Given the description of an element on the screen output the (x, y) to click on. 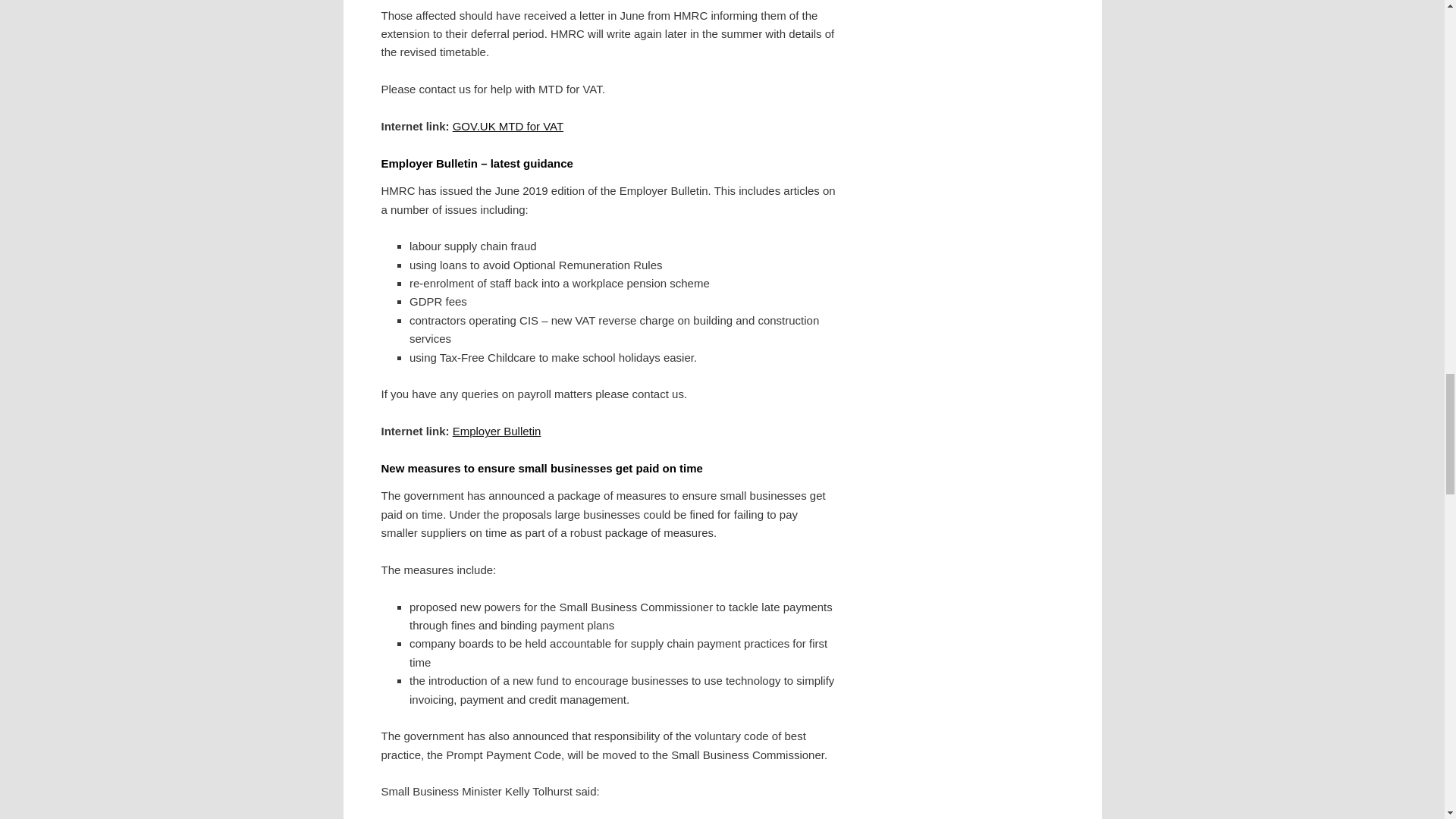
Employer Bulletin (496, 431)
GOV.UK MTD for VAT (507, 125)
